Given the description of an element on the screen output the (x, y) to click on. 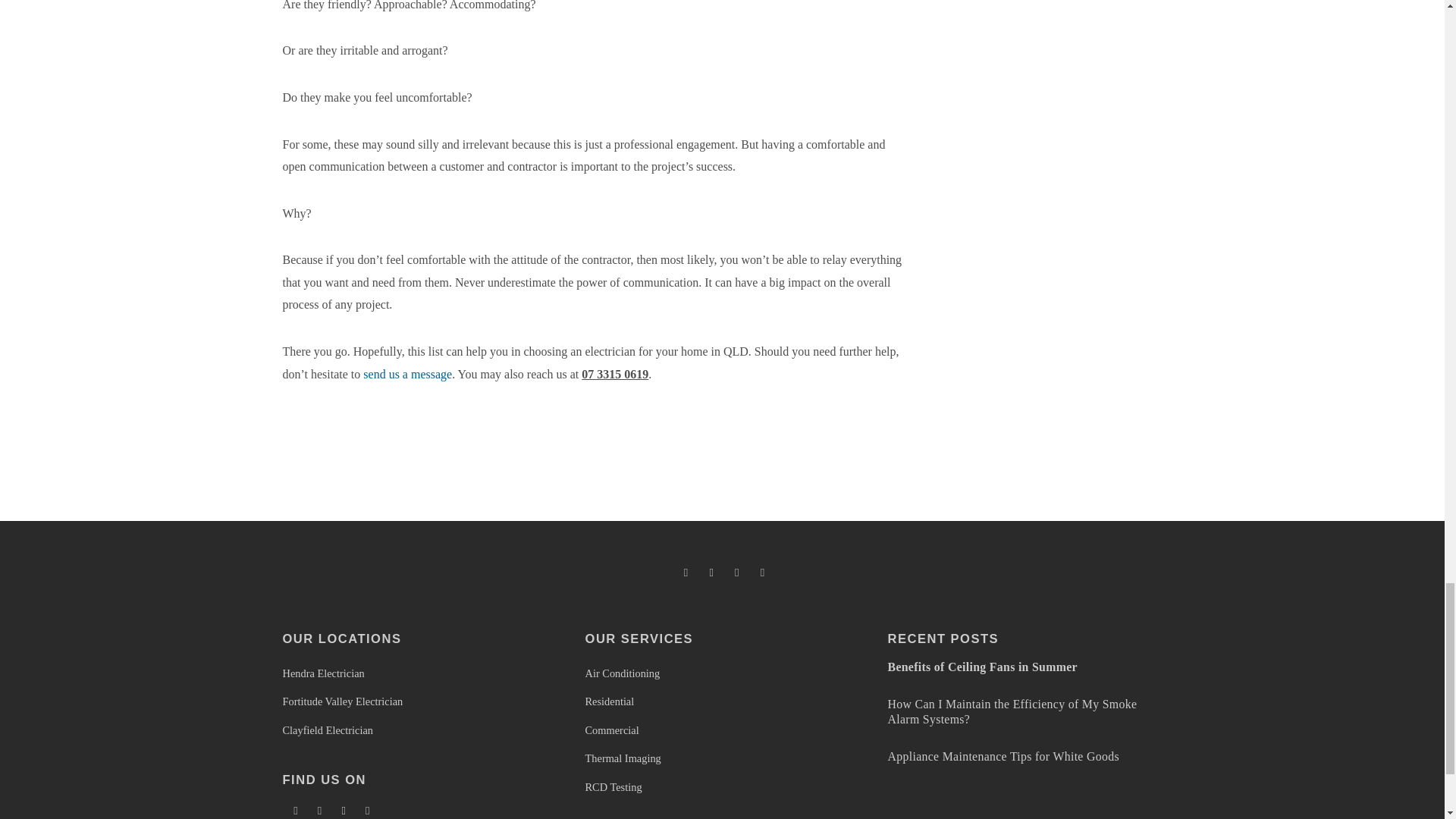
Residential (609, 701)
Air Conditioning (623, 673)
Fortitude Valley Electrician (342, 701)
Commercial (612, 729)
send us a message (406, 373)
Hendra Electrician (323, 673)
Clayfield Electrician (327, 729)
